Given the description of an element on the screen output the (x, y) to click on. 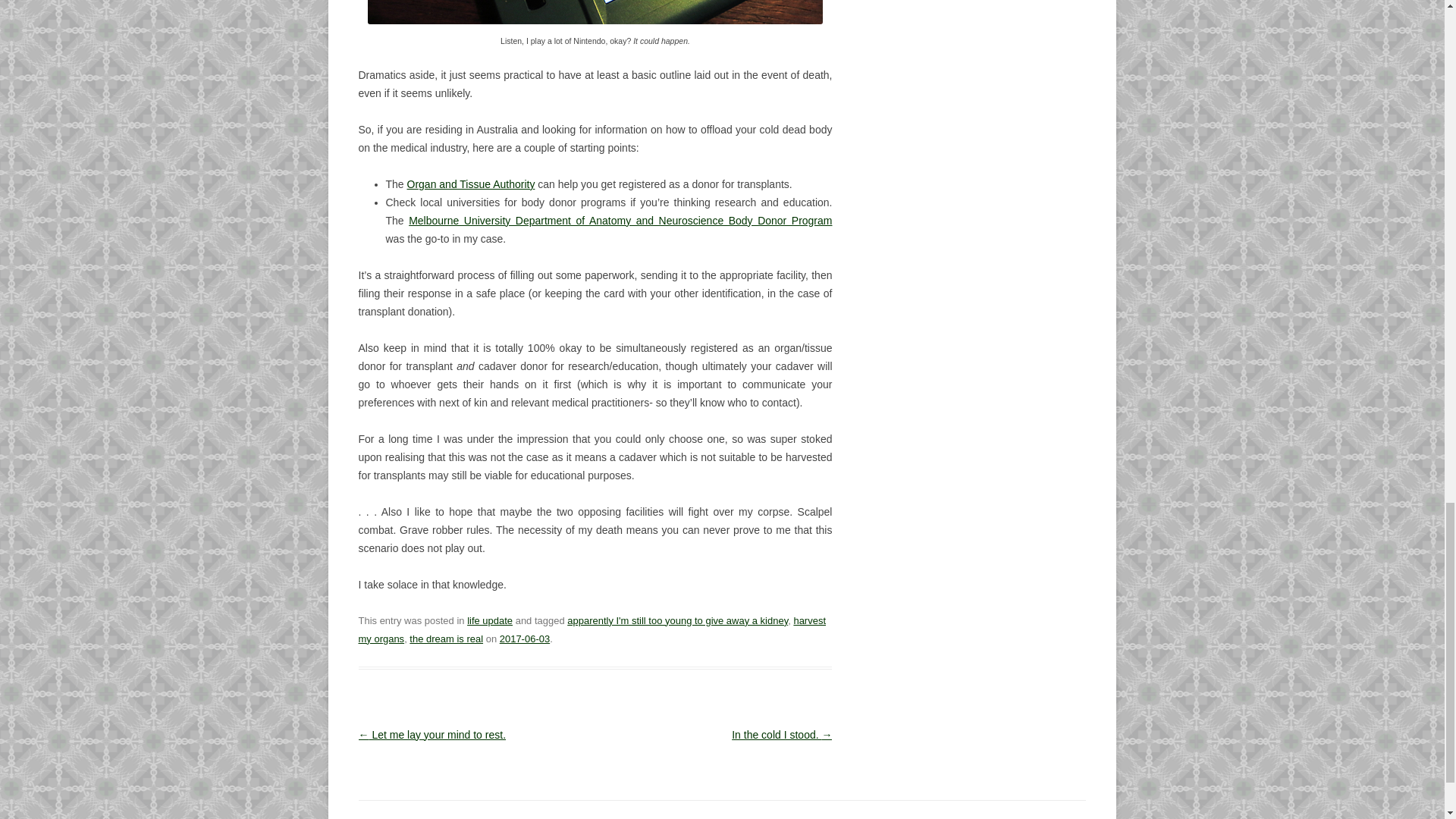
Organ and Tissue Authority (471, 184)
2017-06-03 (524, 638)
life update (489, 620)
01:37 (524, 638)
apparently I'm still too young to give away a kidney (677, 620)
the dream is real (446, 638)
harvest my organs (591, 629)
